Given the description of an element on the screen output the (x, y) to click on. 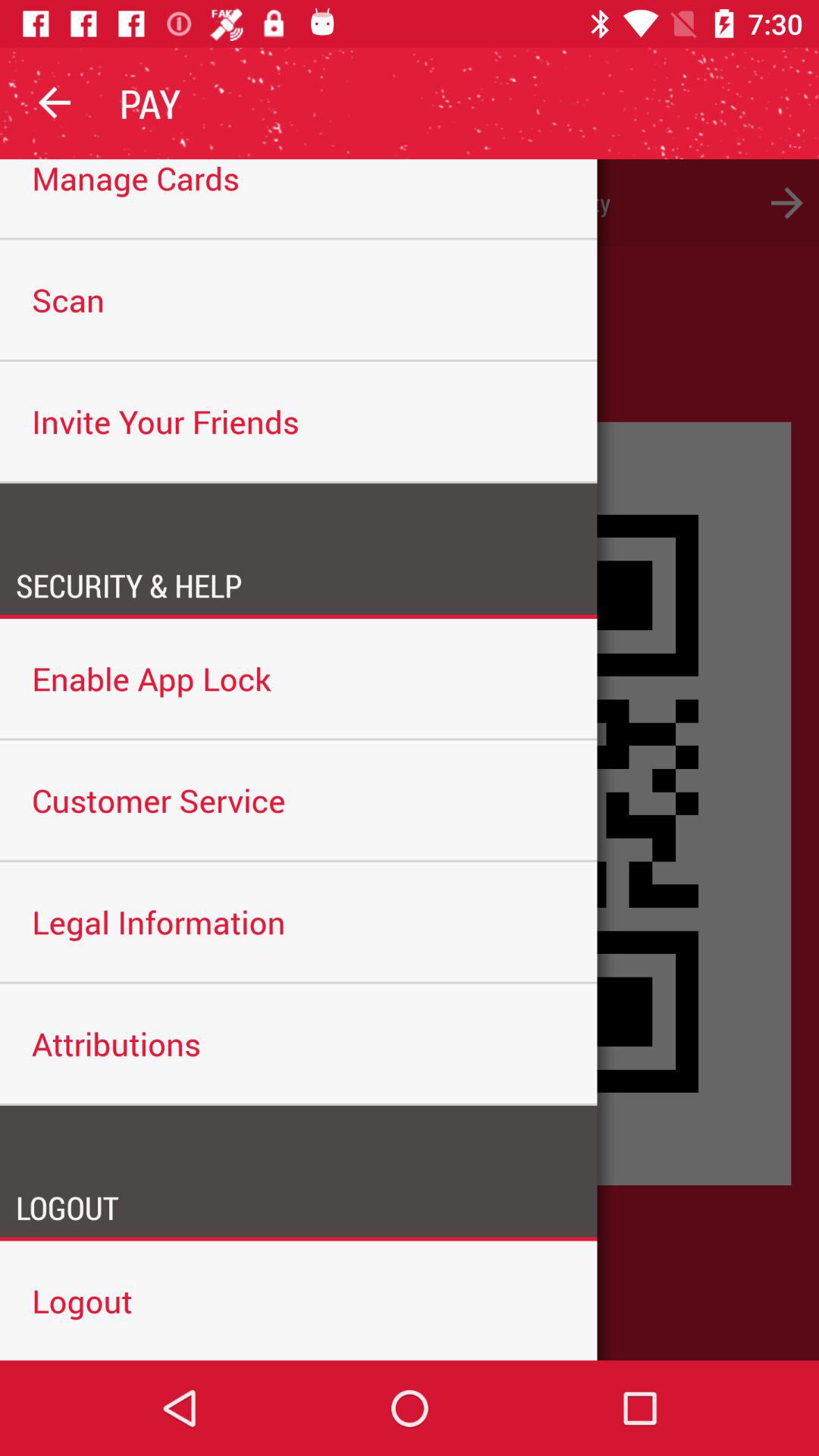
scroll to enable app lock (298, 678)
